Given the description of an element on the screen output the (x, y) to click on. 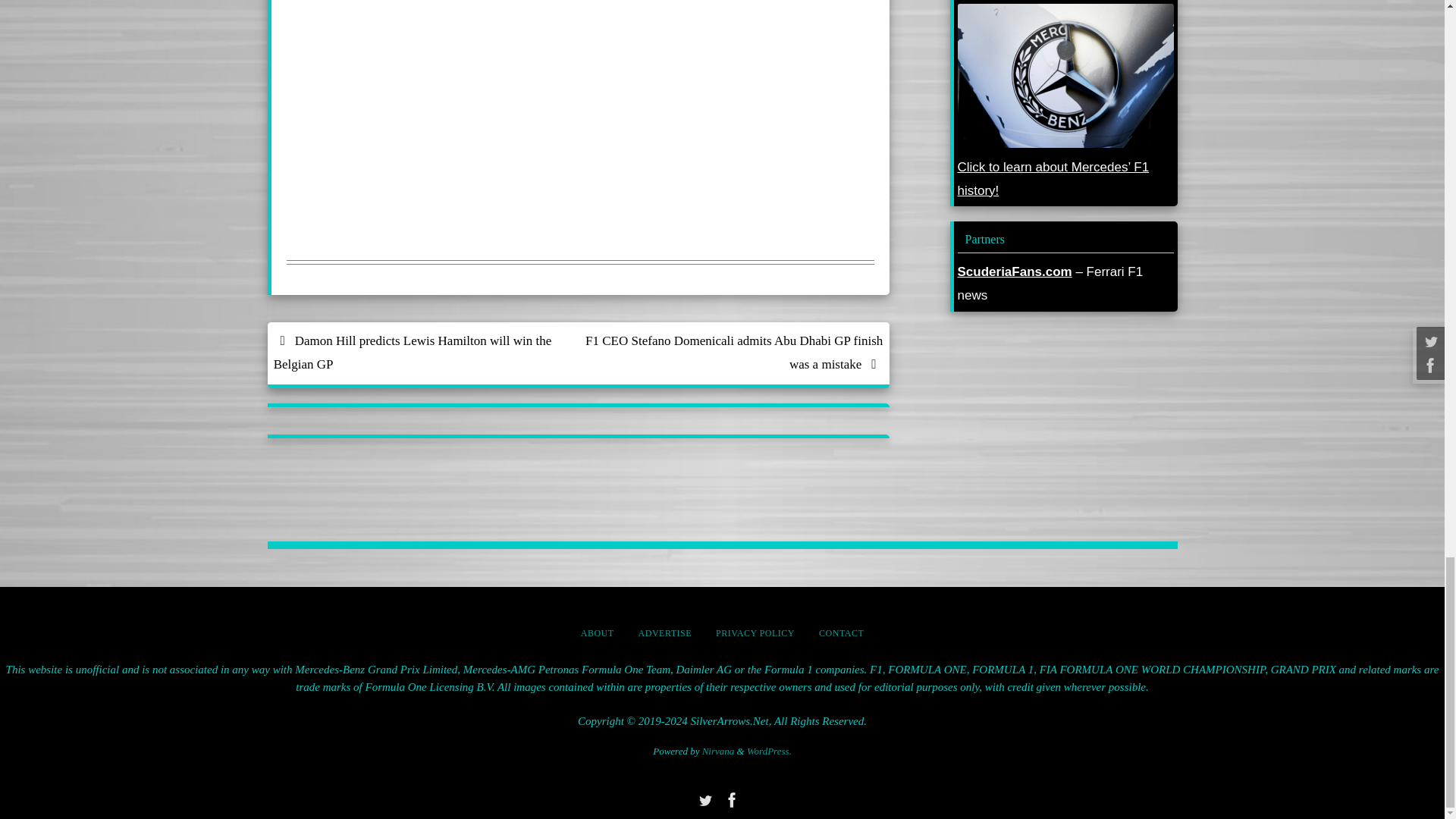
Damon Hill predicts Lewis Hamilton will win the Belgian GP (422, 353)
